Given the description of an element on the screen output the (x, y) to click on. 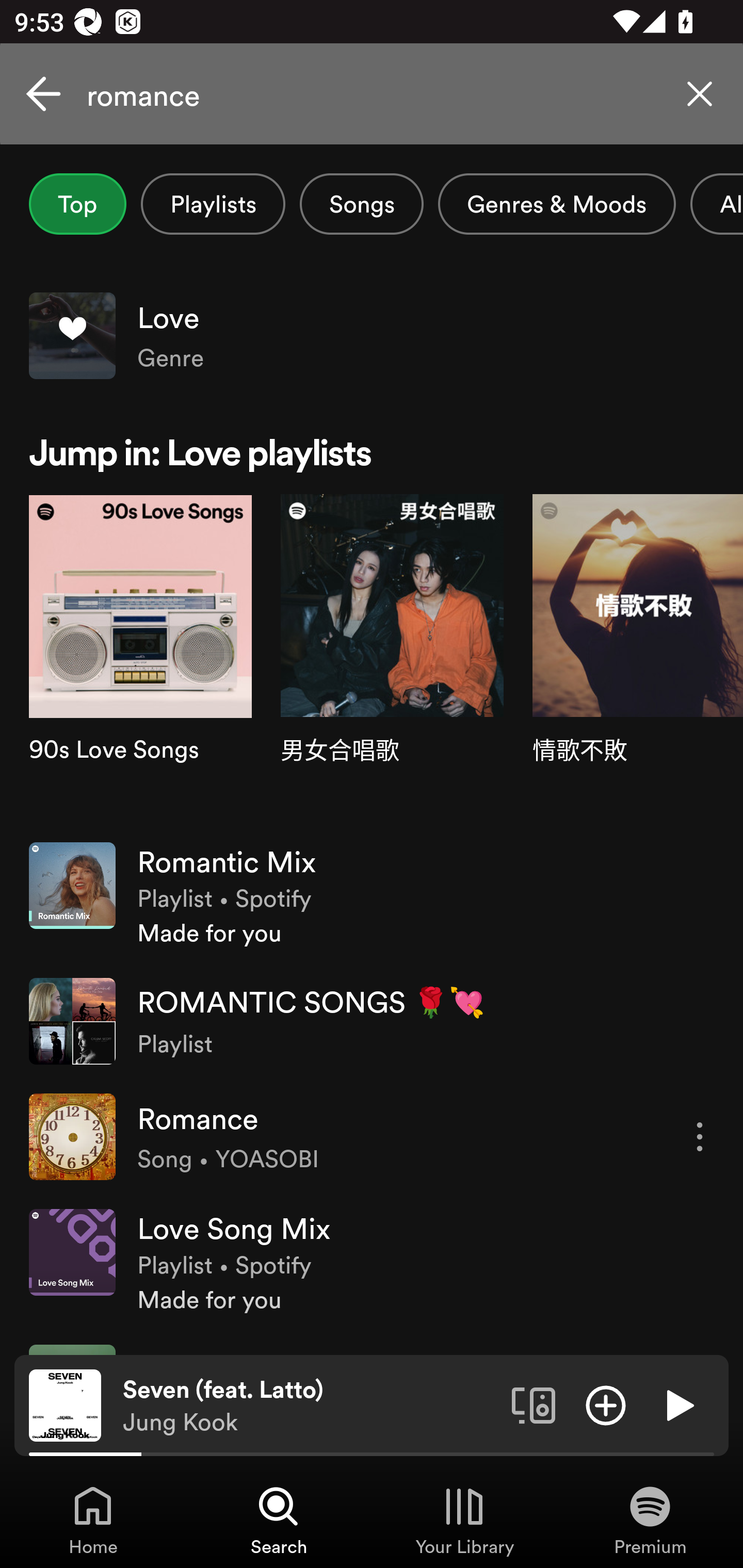
romance (371, 93)
Cancel (43, 93)
Clear search query (699, 93)
Top (77, 203)
Playlists (213, 203)
Songs (361, 203)
Genres & Moods (557, 203)
Albums (716, 203)
Love Genre (371, 335)
Search card image 90s Love Songs (139, 660)
Search card image 男女合唱歌 (391, 660)
Search card image 情歌不敗 (637, 660)
Romantic Mix Playlist • Spotify Made for you (371, 894)
ROMANTIC SONGS 🌹💘 Playlist (371, 1020)
More options for song Romance (699, 1136)
Love Song Mix Playlist • Spotify Made for you (371, 1261)
Seven (feat. Latto) Jung Kook (309, 1405)
The cover art of the currently playing track (64, 1404)
Connect to a device. Opens the devices menu (533, 1404)
Add item (605, 1404)
Play (677, 1404)
Home, Tab 1 of 4 Home Home (92, 1519)
Search, Tab 2 of 4 Search Search (278, 1519)
Your Library, Tab 3 of 4 Your Library Your Library (464, 1519)
Premium, Tab 4 of 4 Premium Premium (650, 1519)
